Given the description of an element on the screen output the (x, y) to click on. 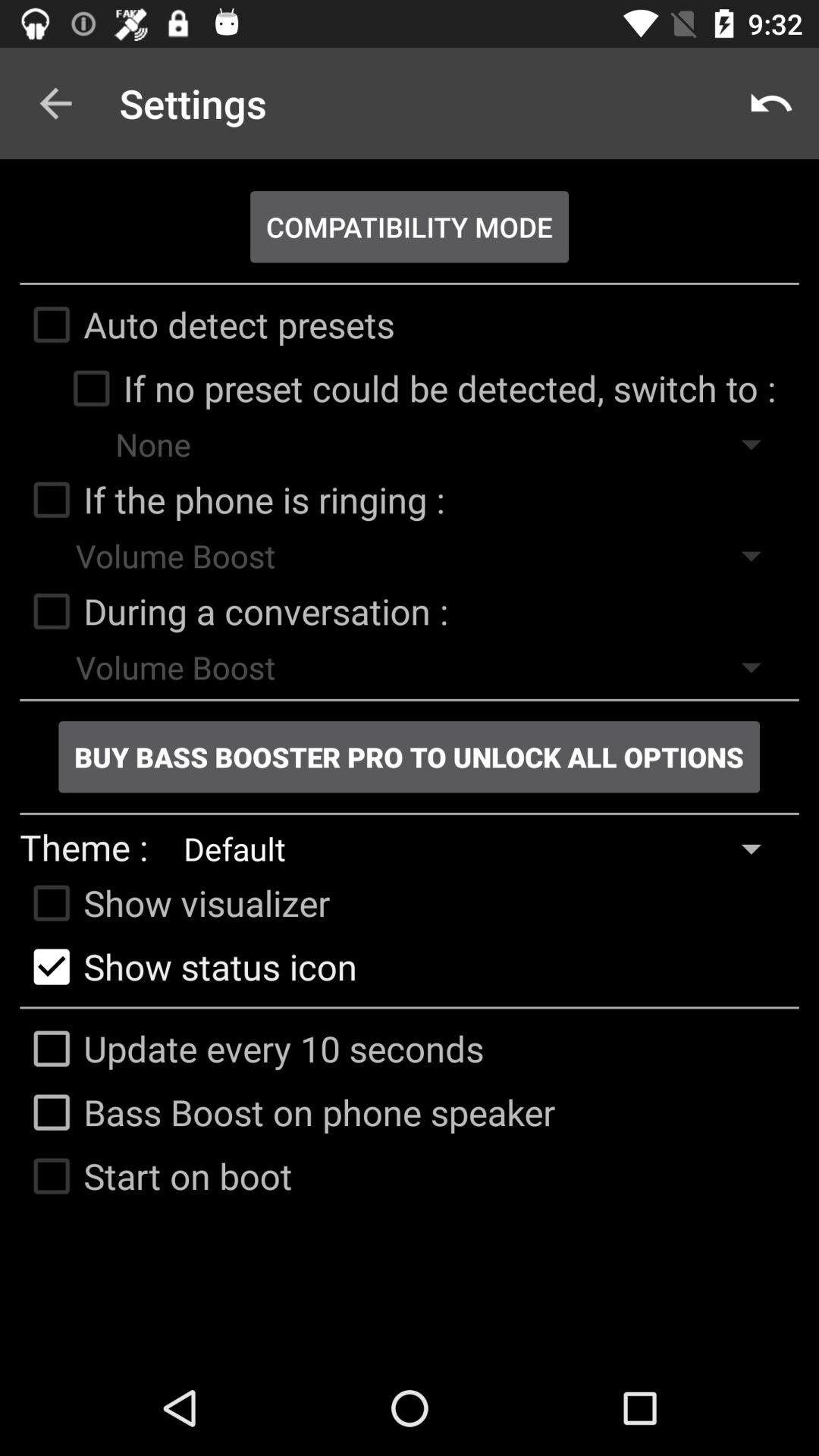
scroll until update every 10 item (251, 1048)
